Given the description of an element on the screen output the (x, y) to click on. 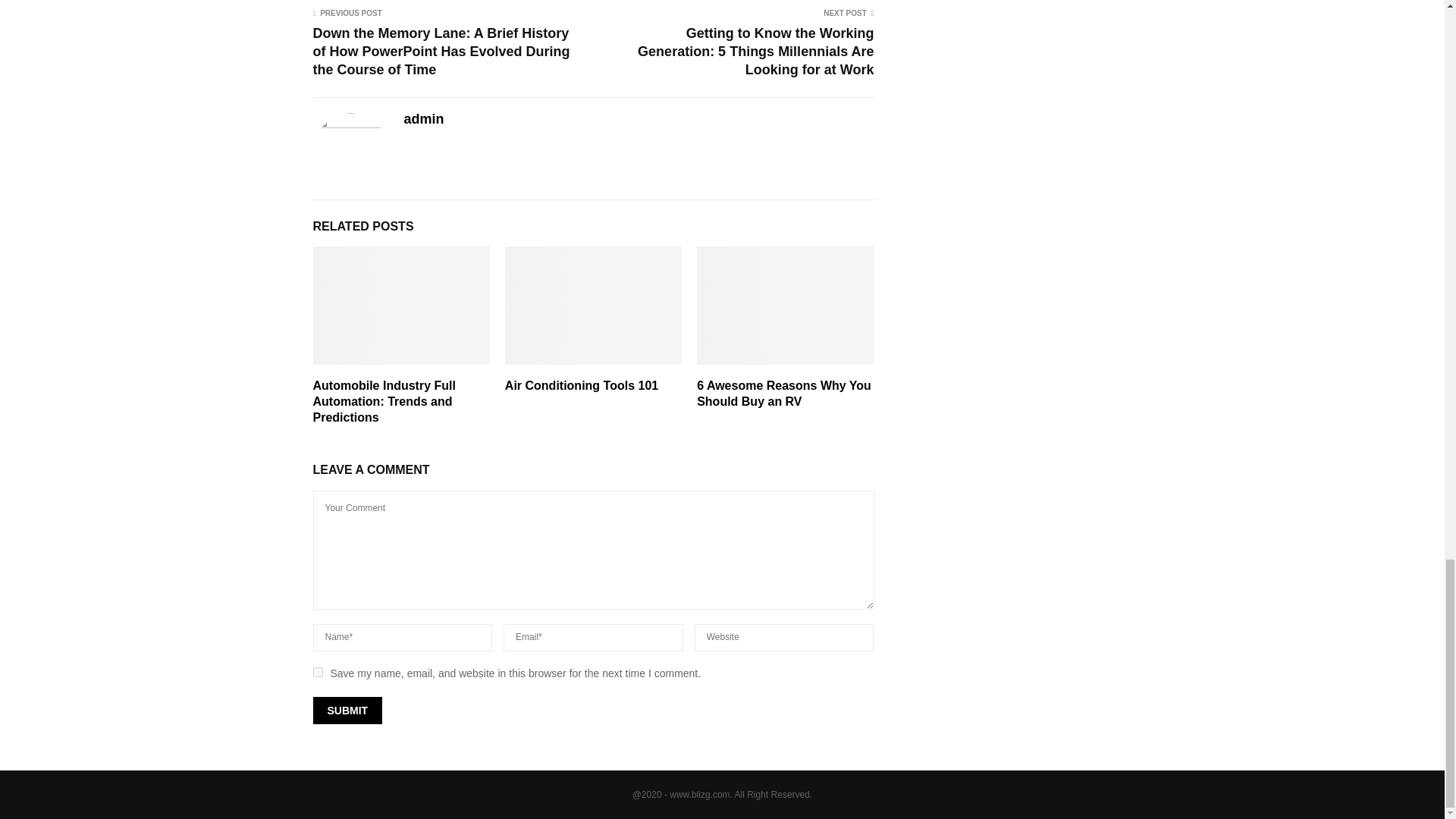
yes (317, 672)
Submit (347, 709)
